Given the description of an element on the screen output the (x, y) to click on. 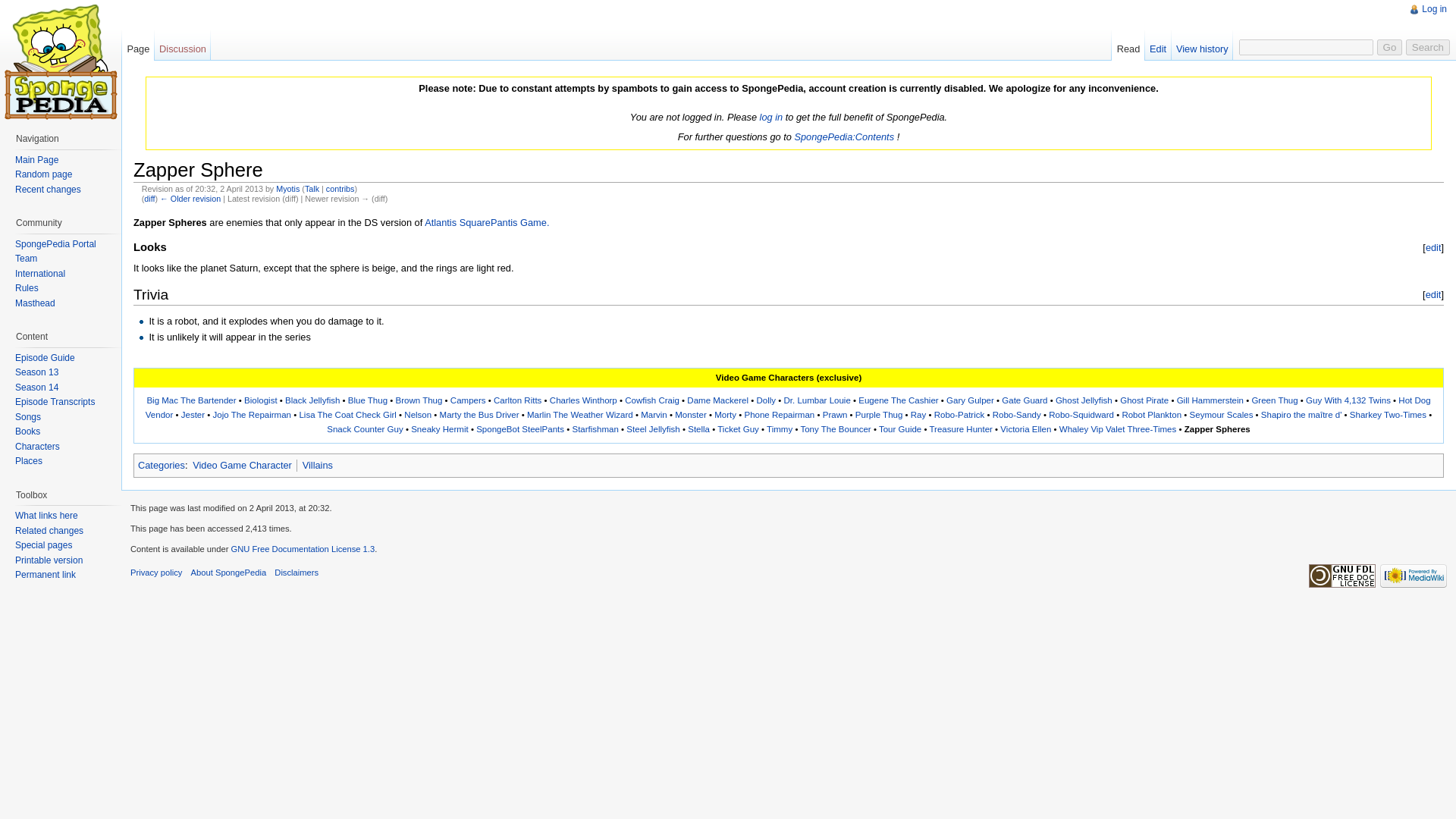
Black Jellyfish (312, 399)
Talk (311, 188)
Dame Mackerel (717, 399)
contribs (340, 188)
Lisa The Coat Check Girl (347, 414)
User talk:Myotis (311, 188)
Brown Thug (419, 399)
Brown Thug (419, 399)
SpongePedia:Contents (843, 136)
Ghost Pirate (1144, 399)
